Given the description of an element on the screen output the (x, y) to click on. 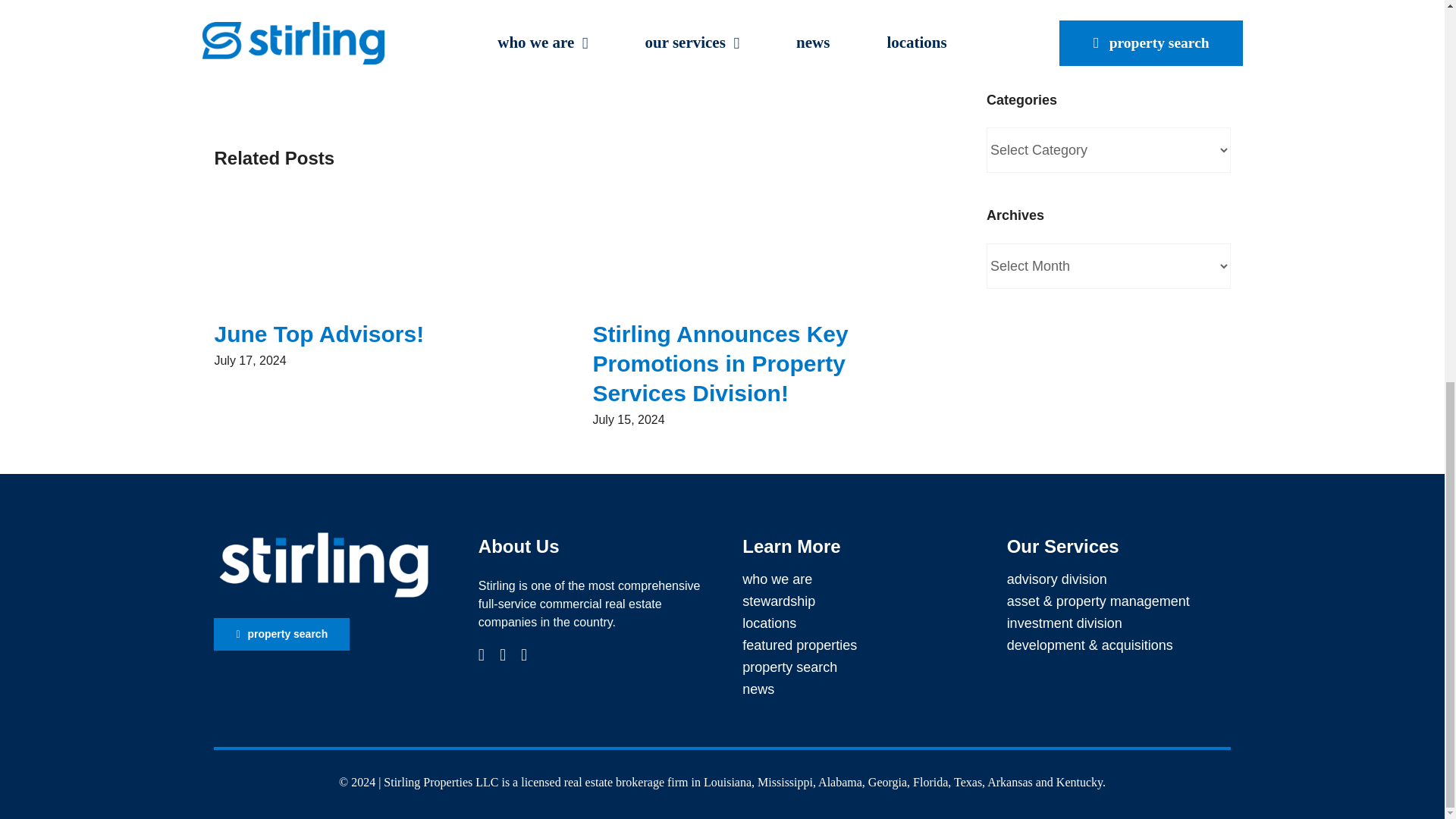
June Top Advisors! (318, 333)
June Top Advisors! (318, 333)
Meet Our Interns! (1042, 21)
